Given the description of an element on the screen output the (x, y) to click on. 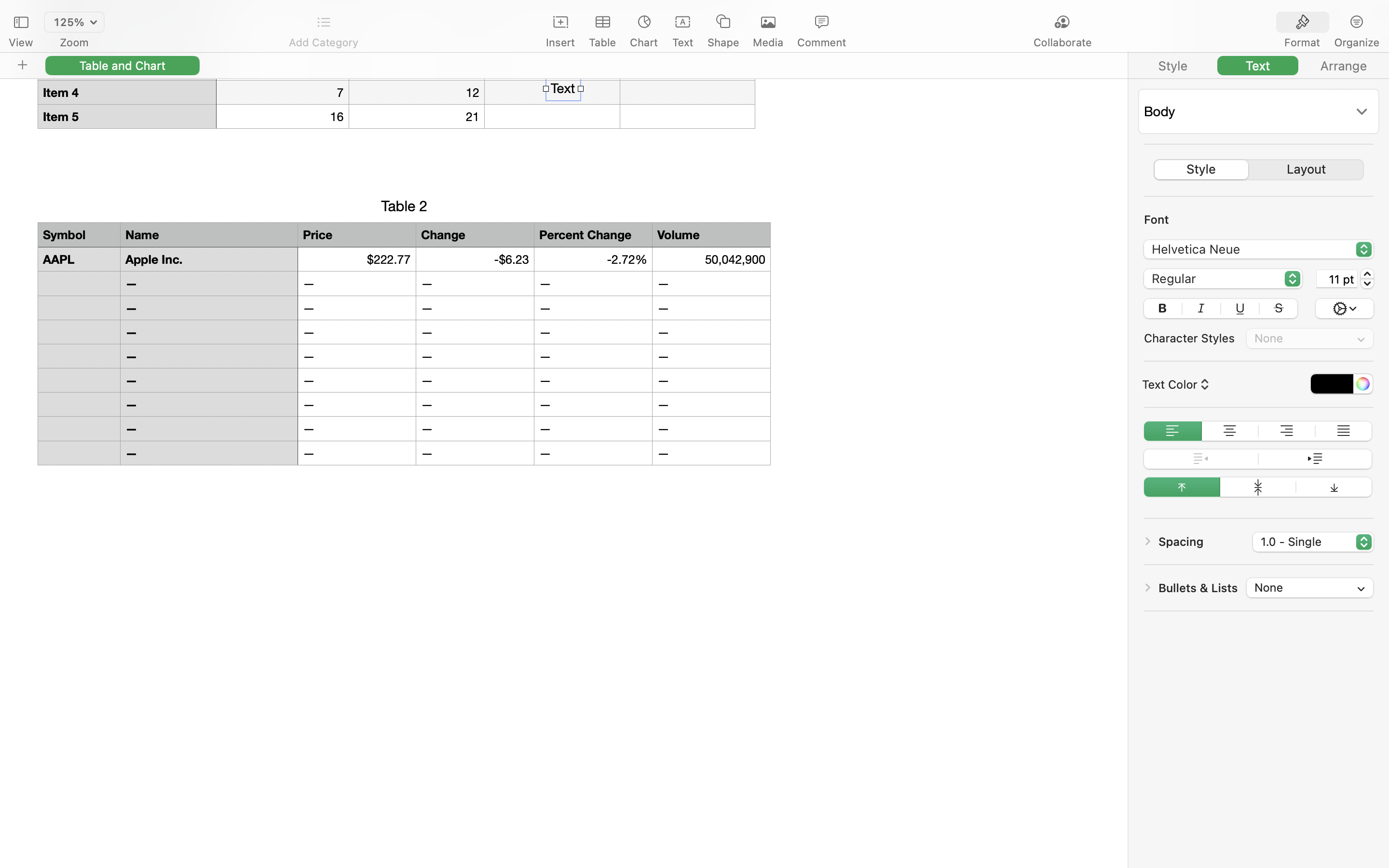
Spacing Element type: AXStaticText (1180, 541)
Format Element type: AXStaticText (1302, 42)
Regular Element type: AXPopUpButton (1223, 280)
